Given the description of an element on the screen output the (x, y) to click on. 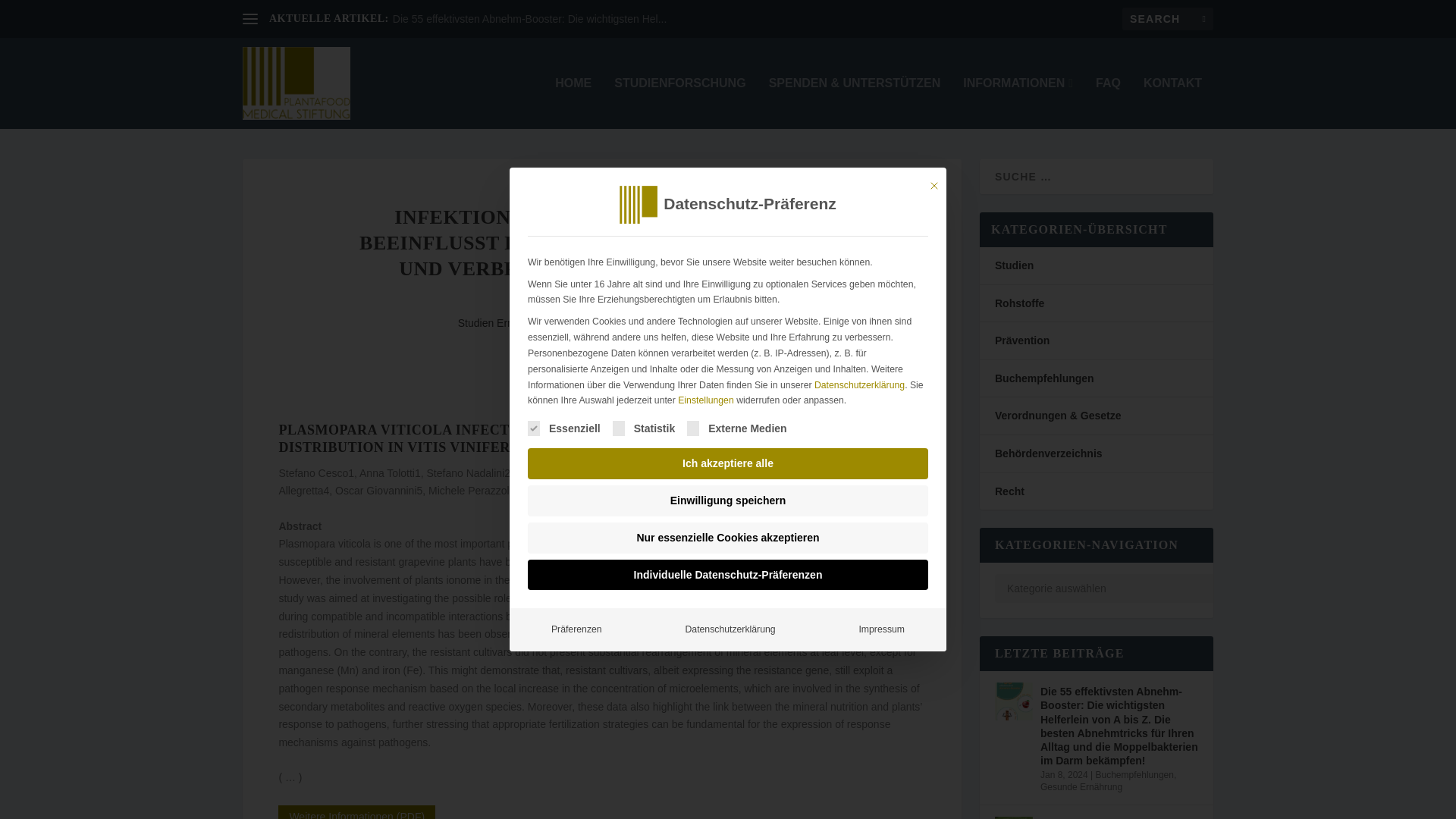
Search for: (1167, 18)
STUDIENFORSCHUNG (679, 102)
KONTAKT (1172, 102)
INFORMATIONEN (1017, 102)
Die 55 effektivsten Abnehm-Booster: Die wichtigsten Hel... (529, 19)
Mushrooms (717, 322)
